Given the description of an element on the screen output the (x, y) to click on. 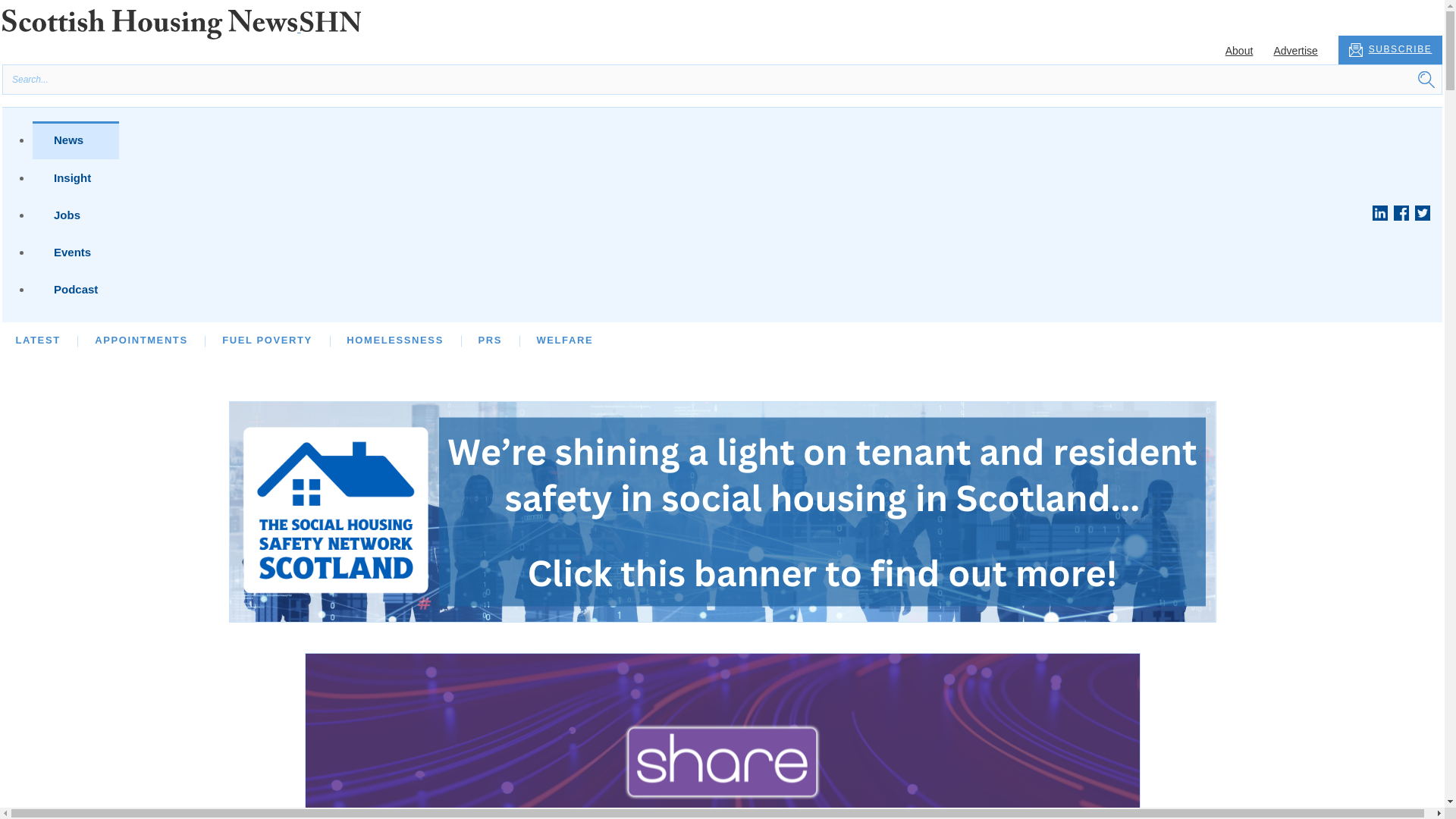
OPINION (119, 339)
SFHA TECH COLUMN (511, 339)
INTERVIEWS (216, 339)
HOMELESSNESS (395, 339)
OUR HOUSING HERITAGE (804, 339)
BLACK'S BLOG (652, 339)
FUEL POVERTY (267, 339)
About (1239, 50)
News (75, 139)
PRS (489, 339)
